Given the description of an element on the screen output the (x, y) to click on. 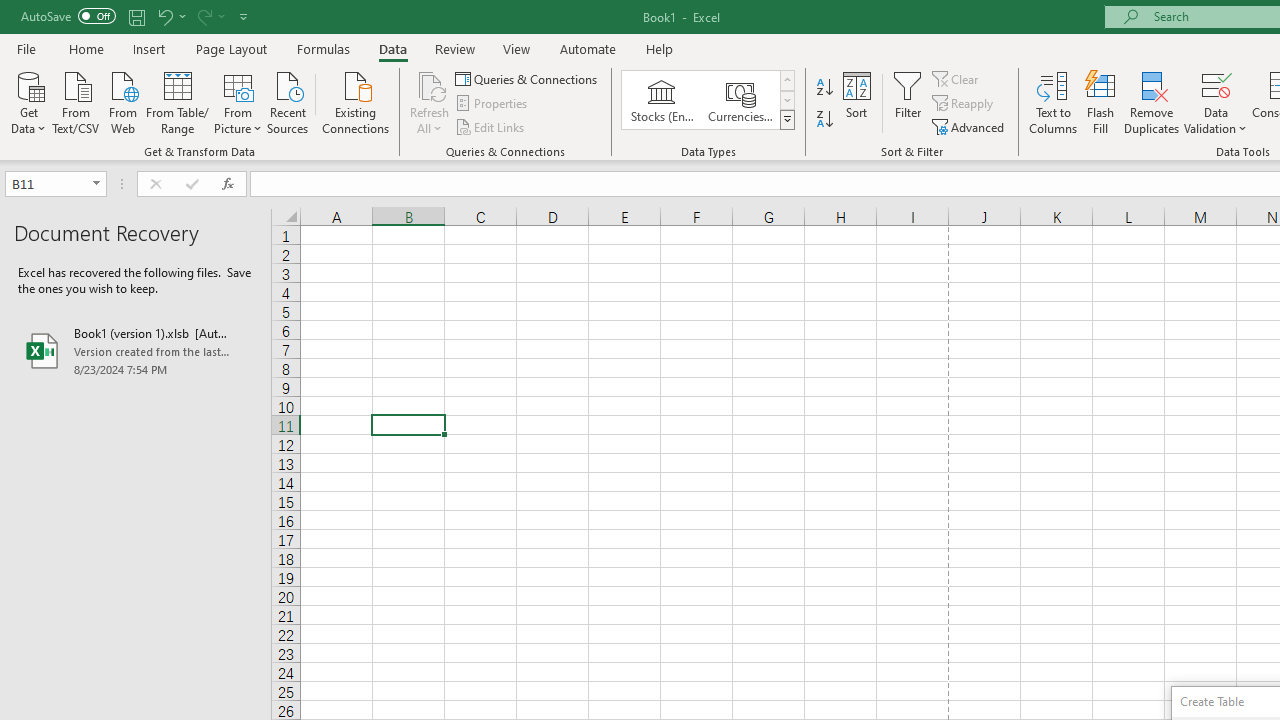
Filter (908, 102)
Get Data (28, 101)
Advanced... (970, 126)
Stocks (English) (662, 100)
Sort Z to A (824, 119)
From Table/Range (177, 101)
Queries & Connections (527, 78)
Remove Duplicates (1151, 102)
Clear (957, 78)
